Given the description of an element on the screen output the (x, y) to click on. 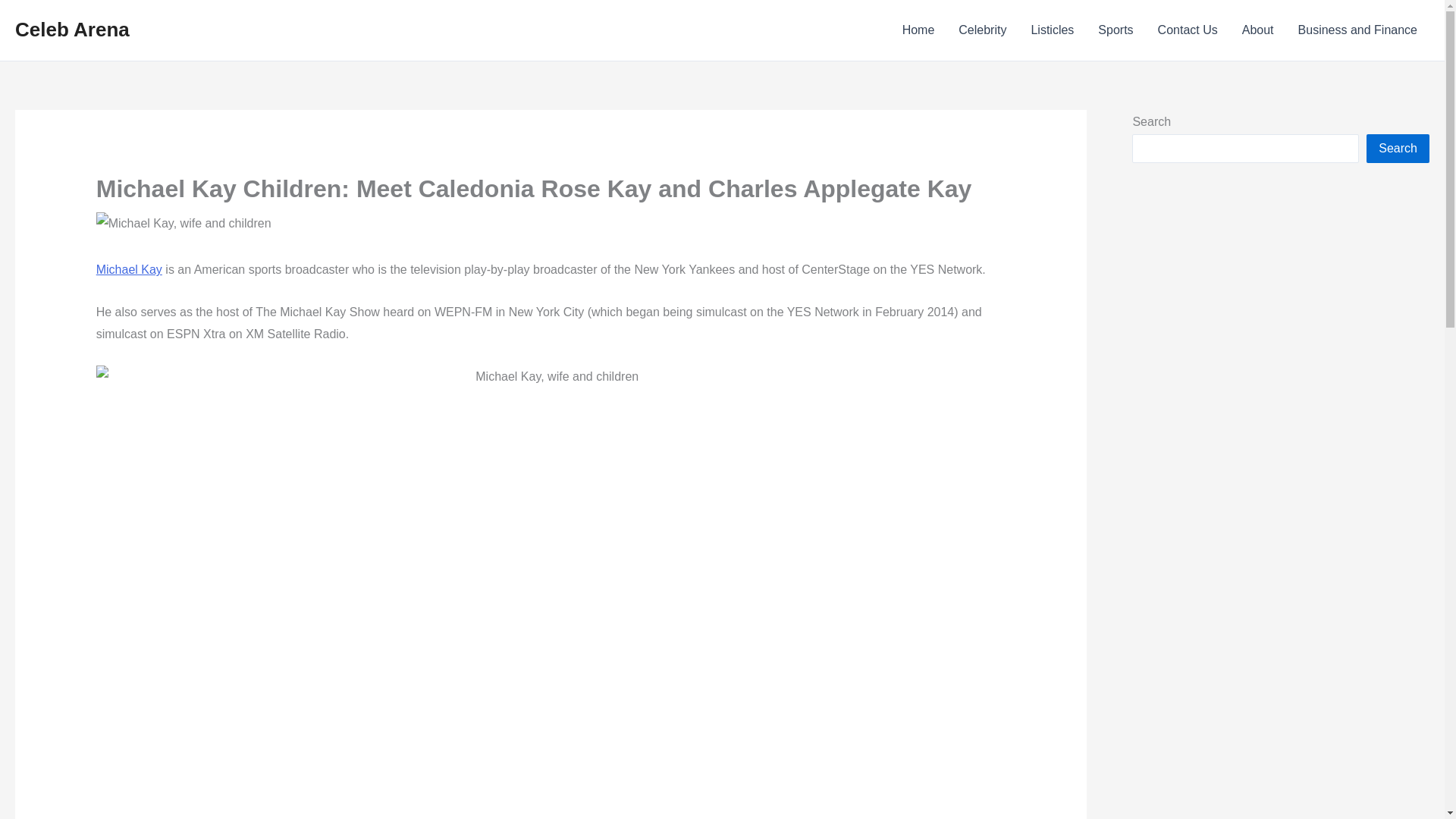
Home (918, 30)
Sports (1115, 30)
Celeb Arena (71, 29)
About (1257, 30)
Celebrity (981, 30)
Contact Us (1187, 30)
Listicles (1051, 30)
Business and Finance (1357, 30)
